Given the description of an element on the screen output the (x, y) to click on. 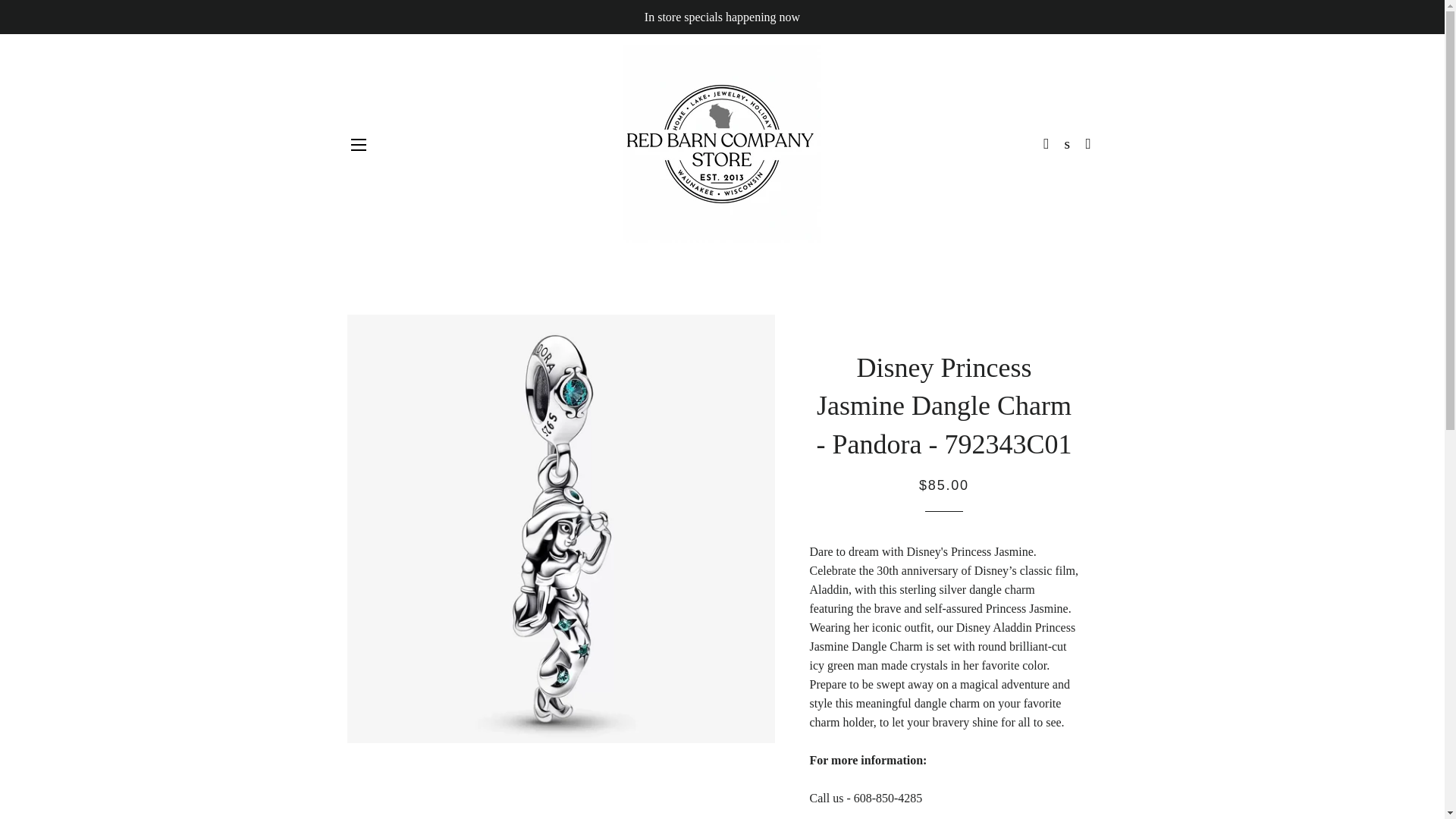
SITE NAVIGATION (358, 144)
LOG IN (1046, 144)
CART (1088, 144)
SEARCH (1067, 144)
